Given the description of an element on the screen output the (x, y) to click on. 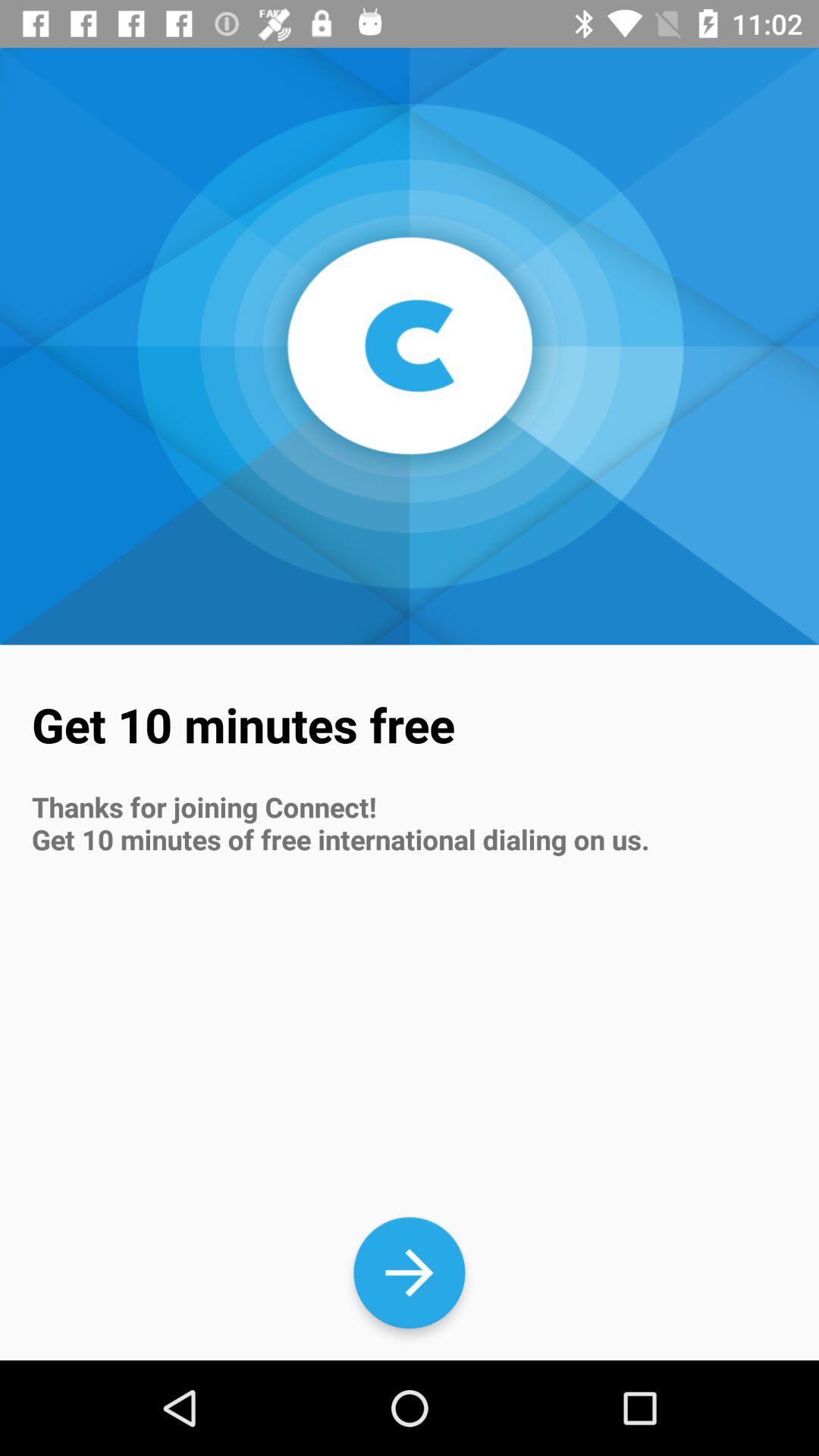
go to next page (409, 1272)
